Given the description of an element on the screen output the (x, y) to click on. 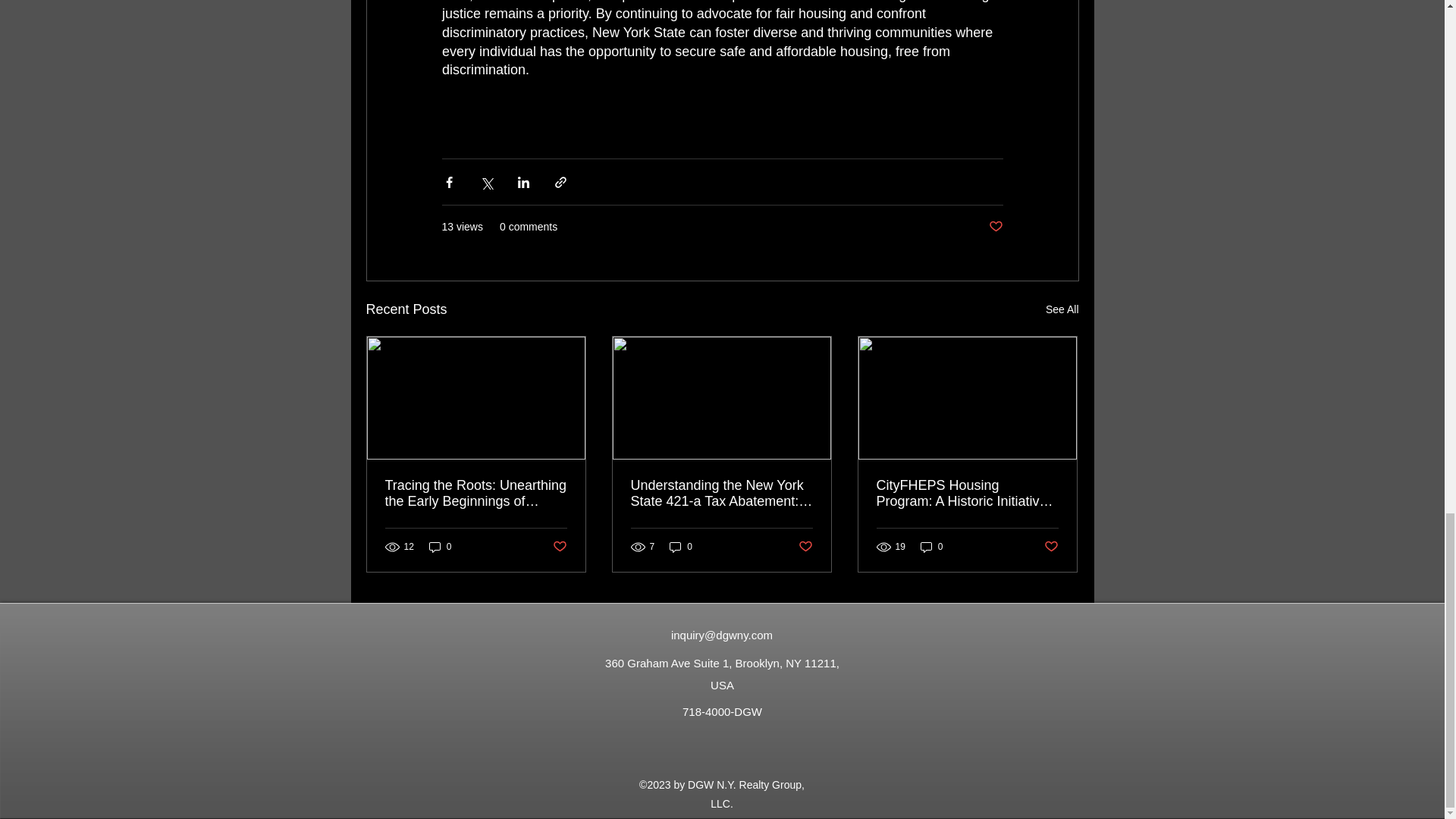
Post not marked as liked (995, 227)
See All (1061, 309)
Post not marked as liked (804, 546)
0 (681, 546)
0 (931, 546)
0 (440, 546)
Post not marked as liked (558, 546)
Post not marked as liked (1050, 546)
